Given the description of an element on the screen output the (x, y) to click on. 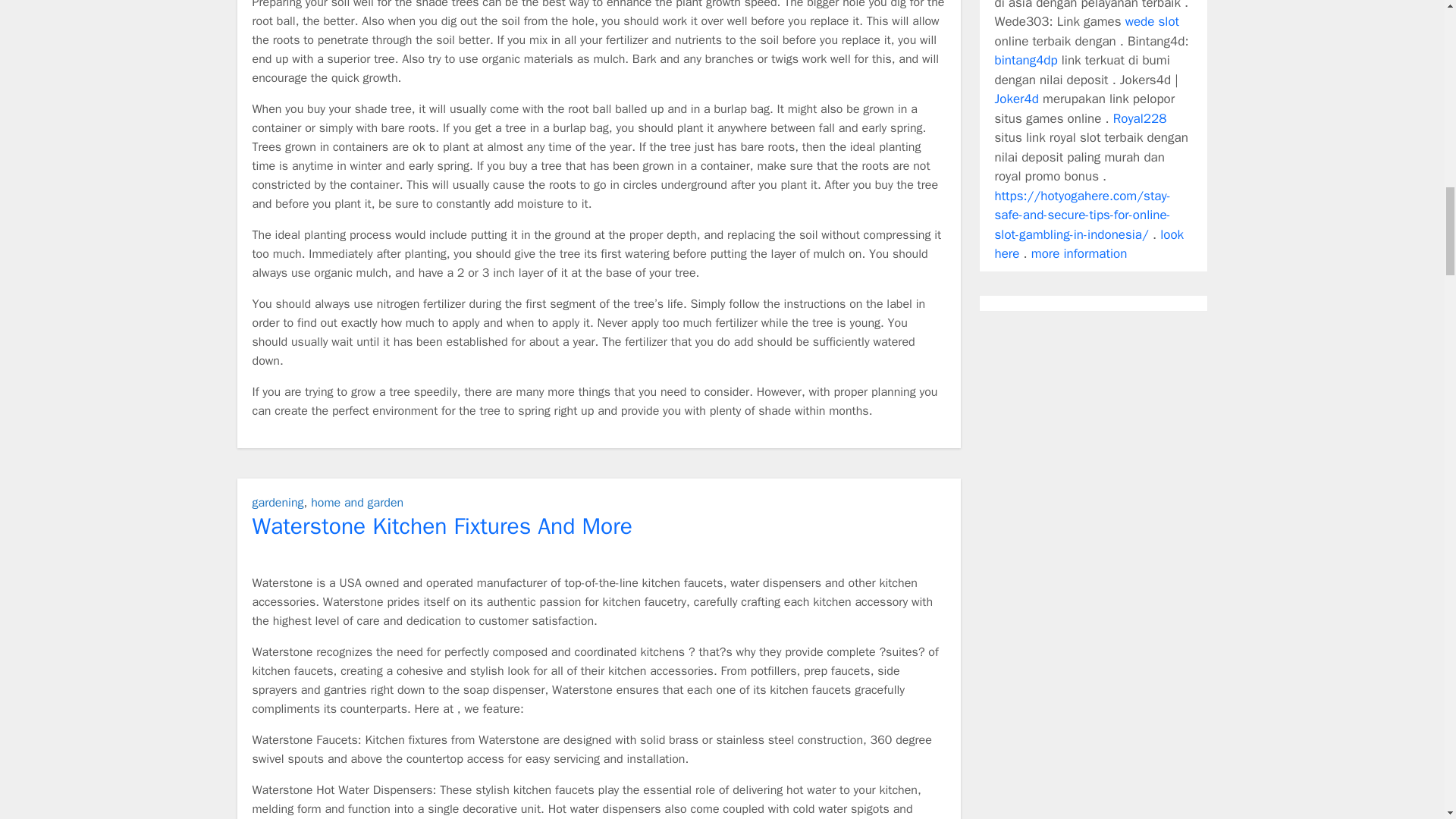
Waterstone Kitchen Fixtures And More (441, 525)
gardening (276, 501)
home and garden (357, 501)
